Given the description of an element on the screen output the (x, y) to click on. 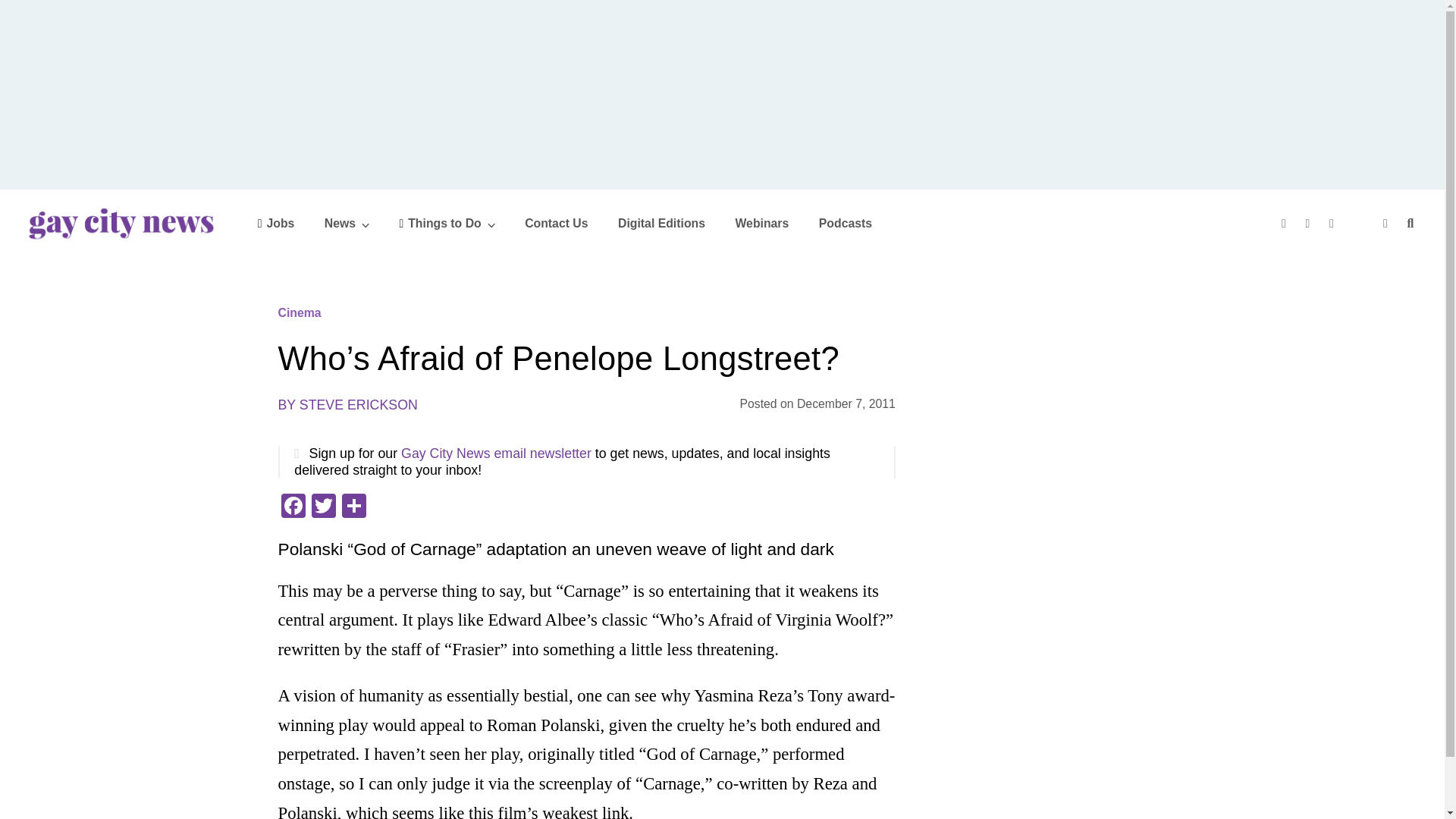
Things to Do (446, 223)
Jobs (276, 223)
Facebook (292, 507)
News (346, 223)
Digital Editions (660, 223)
Webinars (762, 223)
Twitter (322, 507)
Podcasts (845, 223)
Contact Us (556, 223)
